Given the description of an element on the screen output the (x, y) to click on. 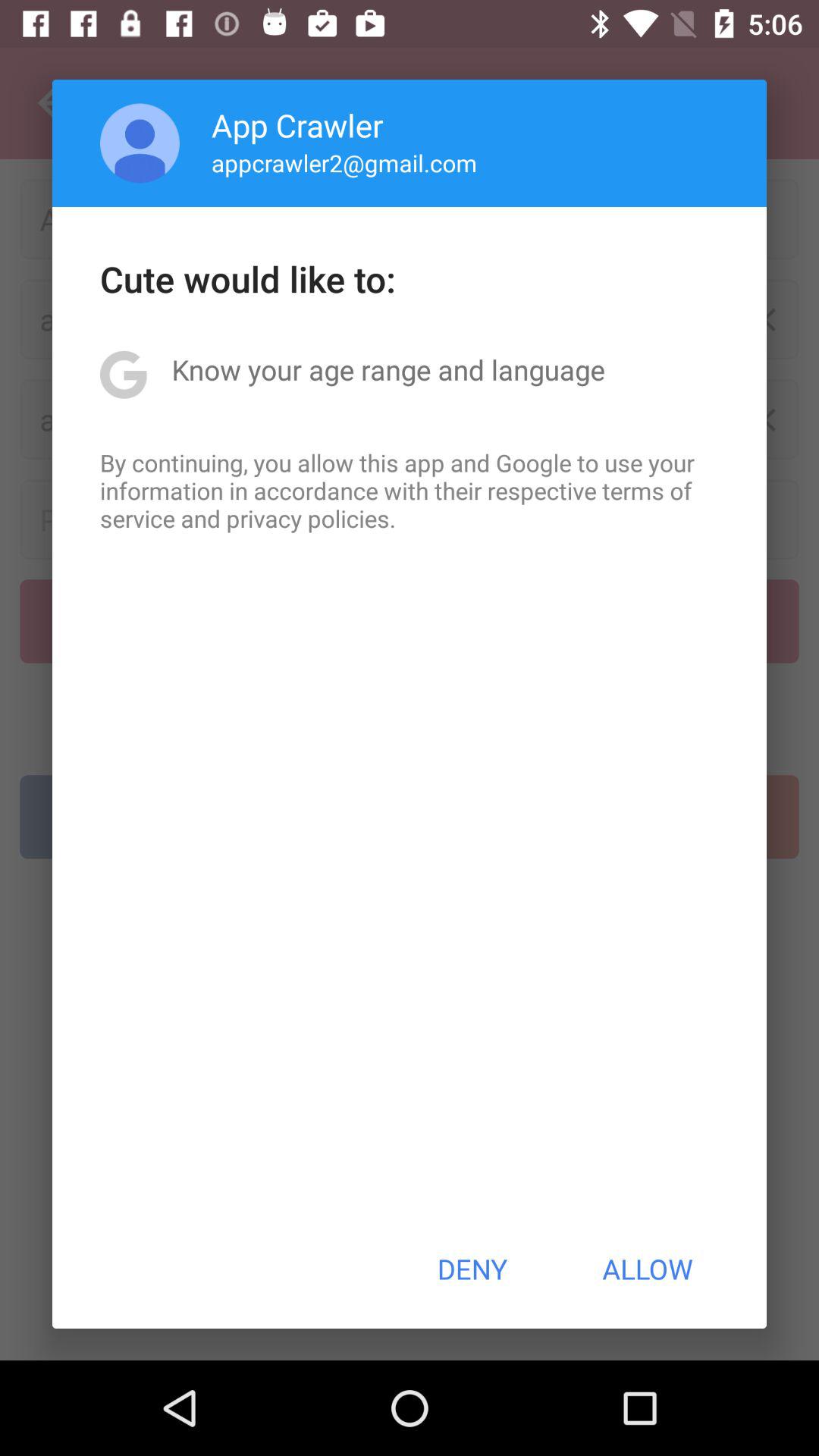
tap item above cute would like item (139, 143)
